Given the description of an element on the screen output the (x, y) to click on. 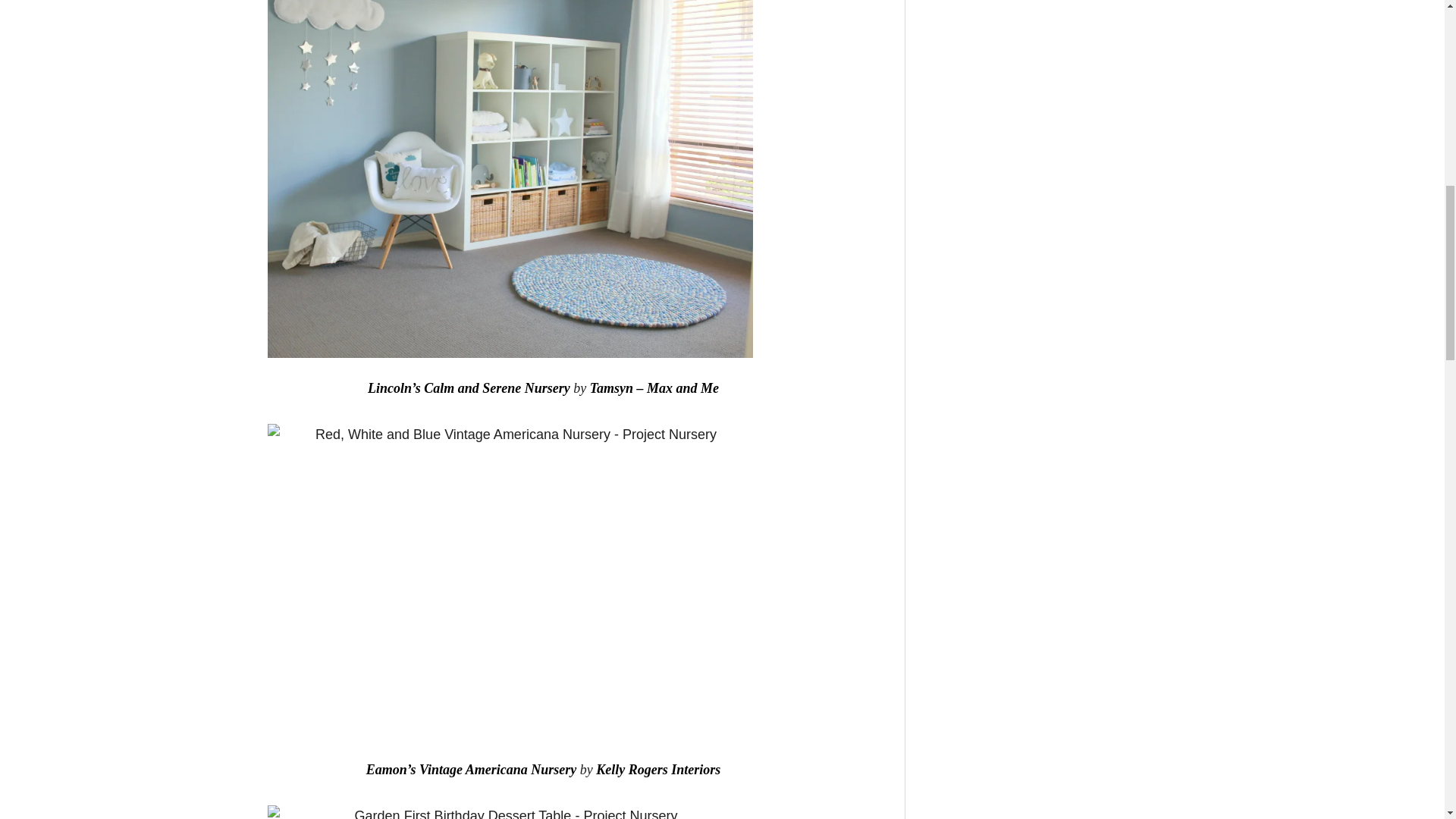
Garden First Birthday Dessert Table (509, 812)
